Given the description of an element on the screen output the (x, y) to click on. 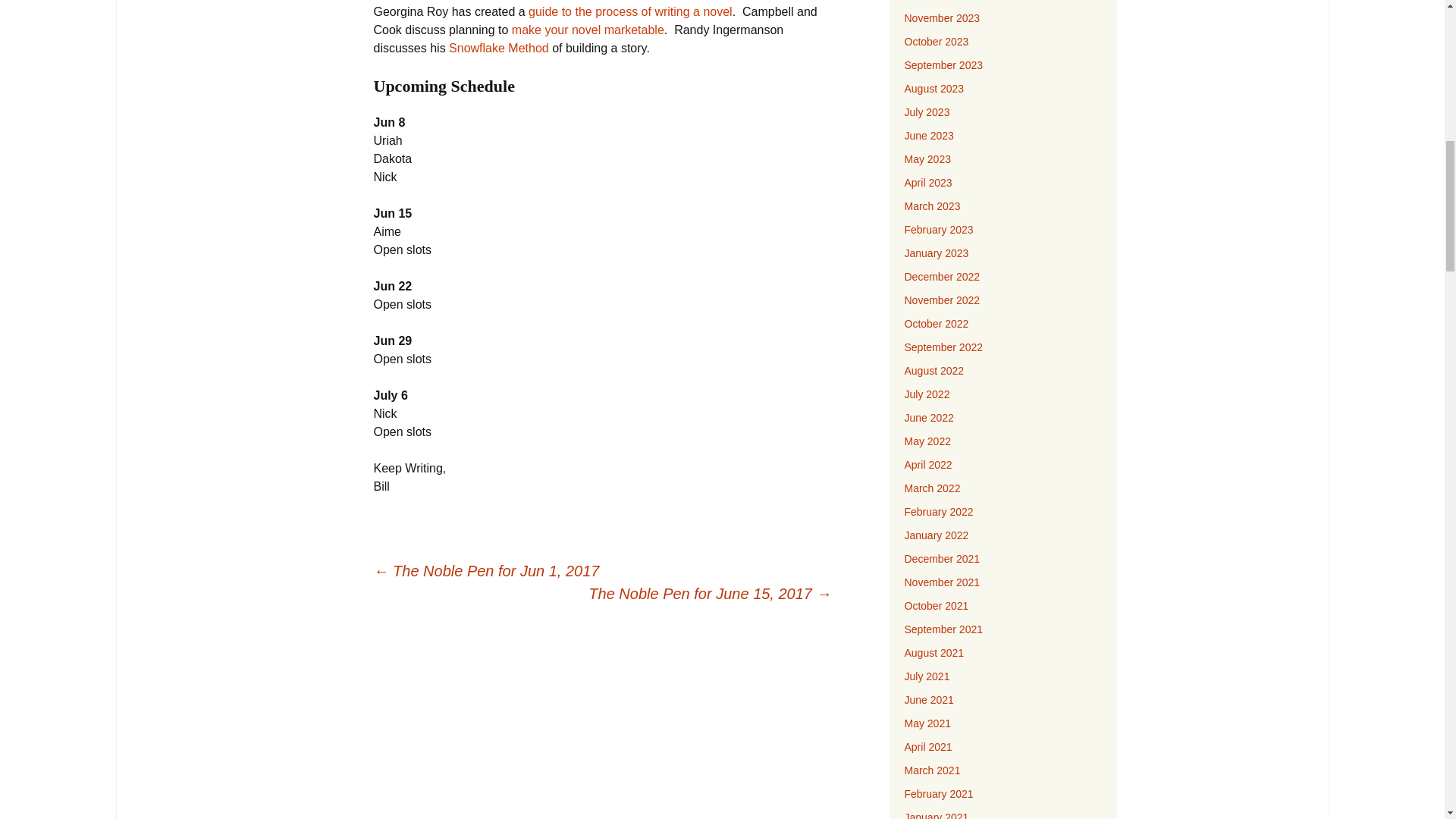
September 2023 (943, 64)
make your novel marketable (587, 29)
October 2023 (936, 41)
Snowflake Method (498, 47)
guide to the process of writing a novel (630, 11)
November 2023 (941, 18)
